Given the description of an element on the screen output the (x, y) to click on. 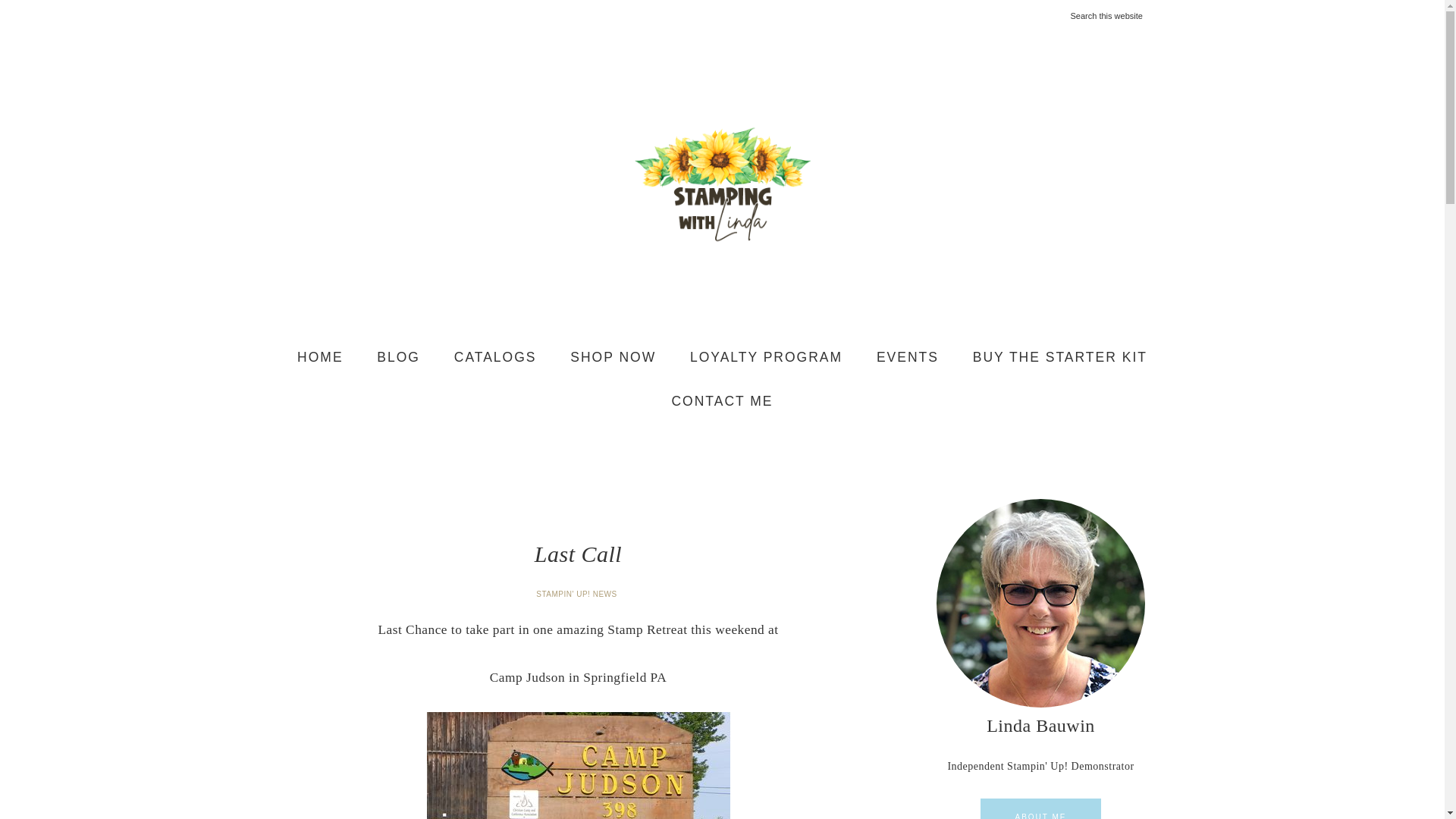
SHOP NOW (612, 357)
CATALOGS (495, 357)
BLOG (398, 357)
HOME (320, 357)
ABOUT ME (1039, 808)
Camp judson (577, 765)
LOYALTY PROGRAM (766, 357)
EVENTS (907, 357)
BUY THE STARTER KIT (1059, 357)
CONTACT ME (721, 401)
STAMPIN' UP! NEWS (577, 593)
STAMPING WITH LINDA, CARD-IOLOGIST (722, 183)
